Given the description of an element on the screen output the (x, y) to click on. 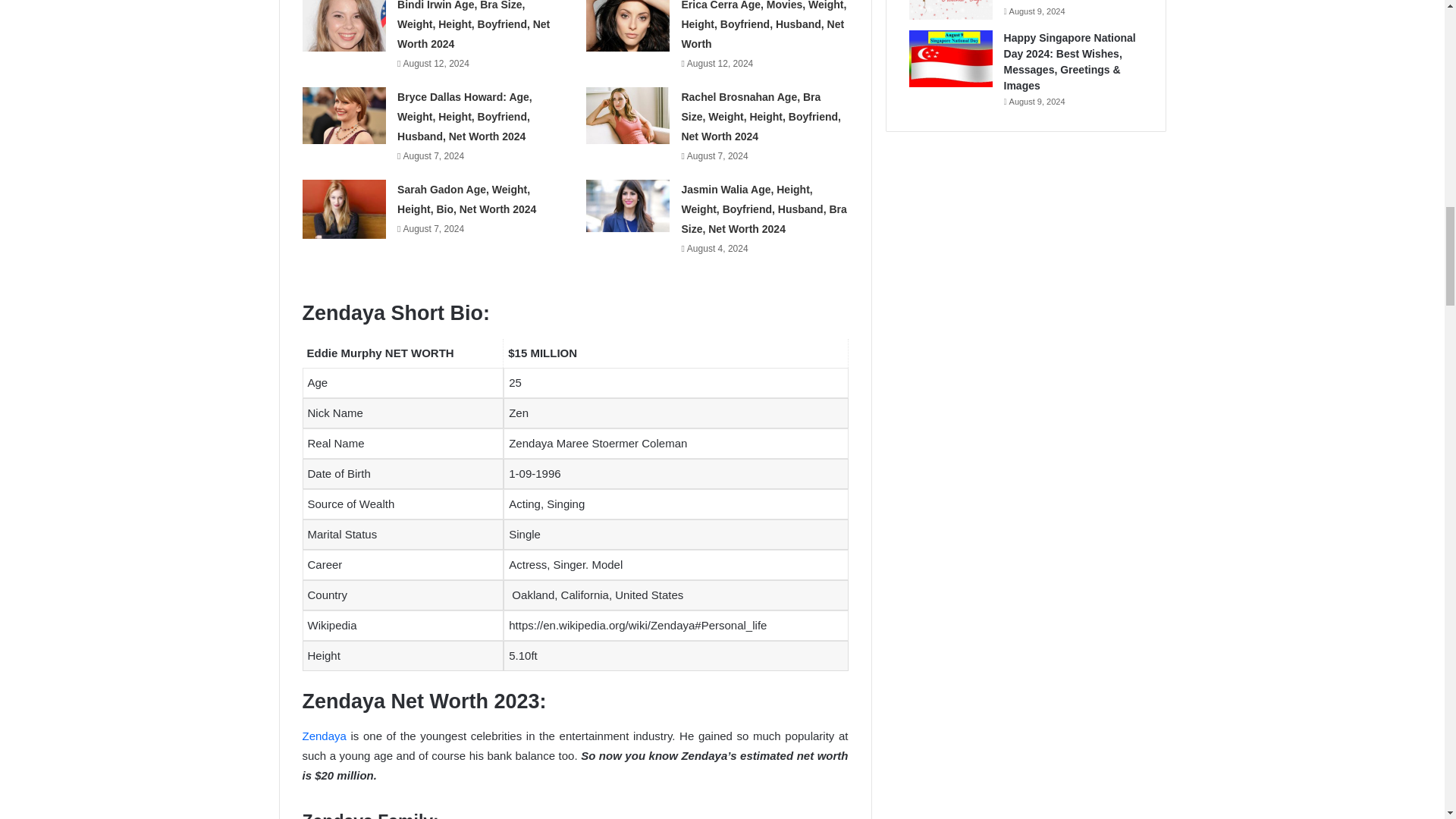
Zendaya (323, 735)
Sarah Gadon Age, Weight, Height, Bio, Net Worth 2024 (466, 199)
